Given the description of an element on the screen output the (x, y) to click on. 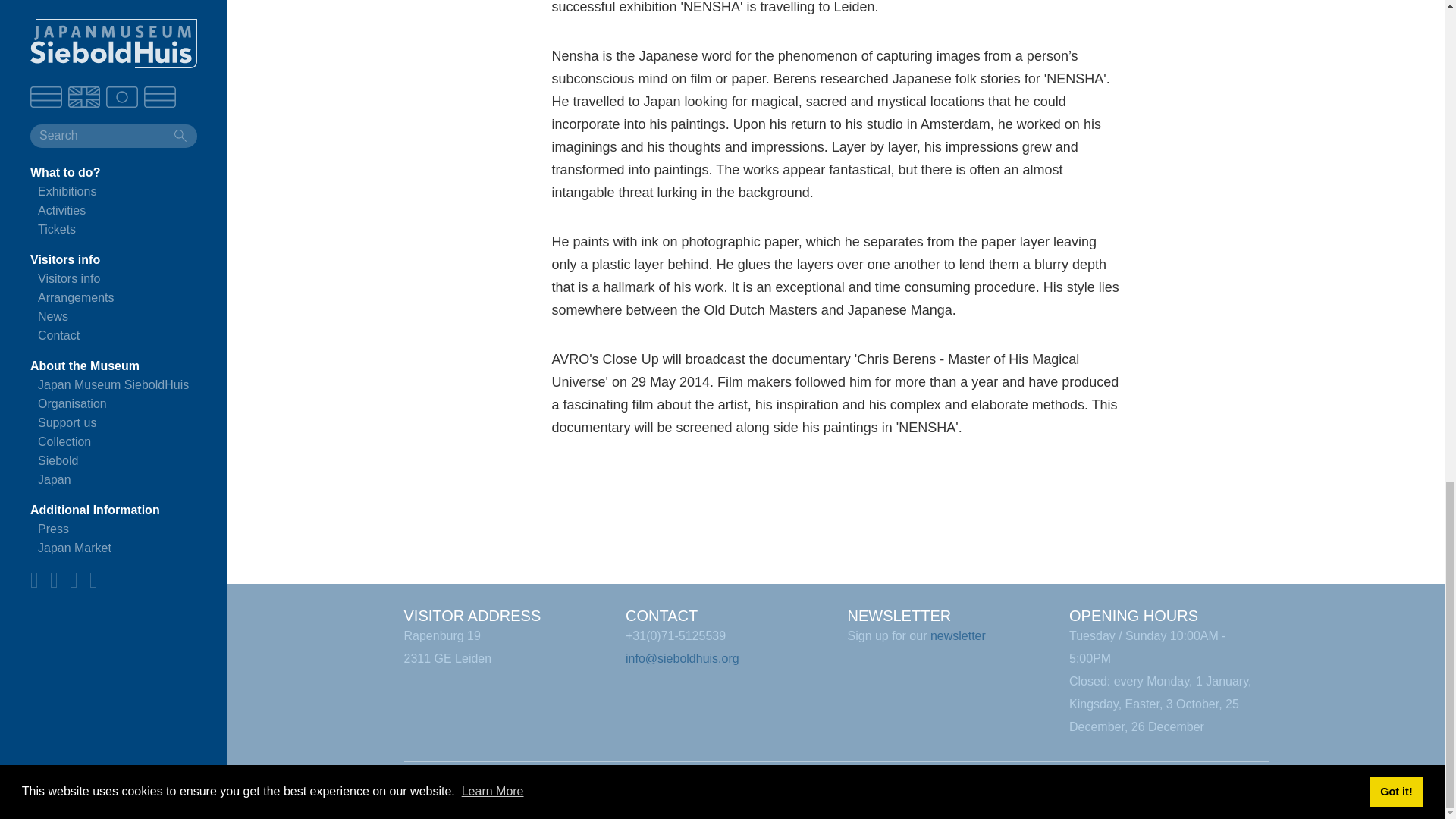
Ontwikkeld door PixelDeluxe Rotterdam (975, 787)
newsletter (957, 635)
